Given the description of an element on the screen output the (x, y) to click on. 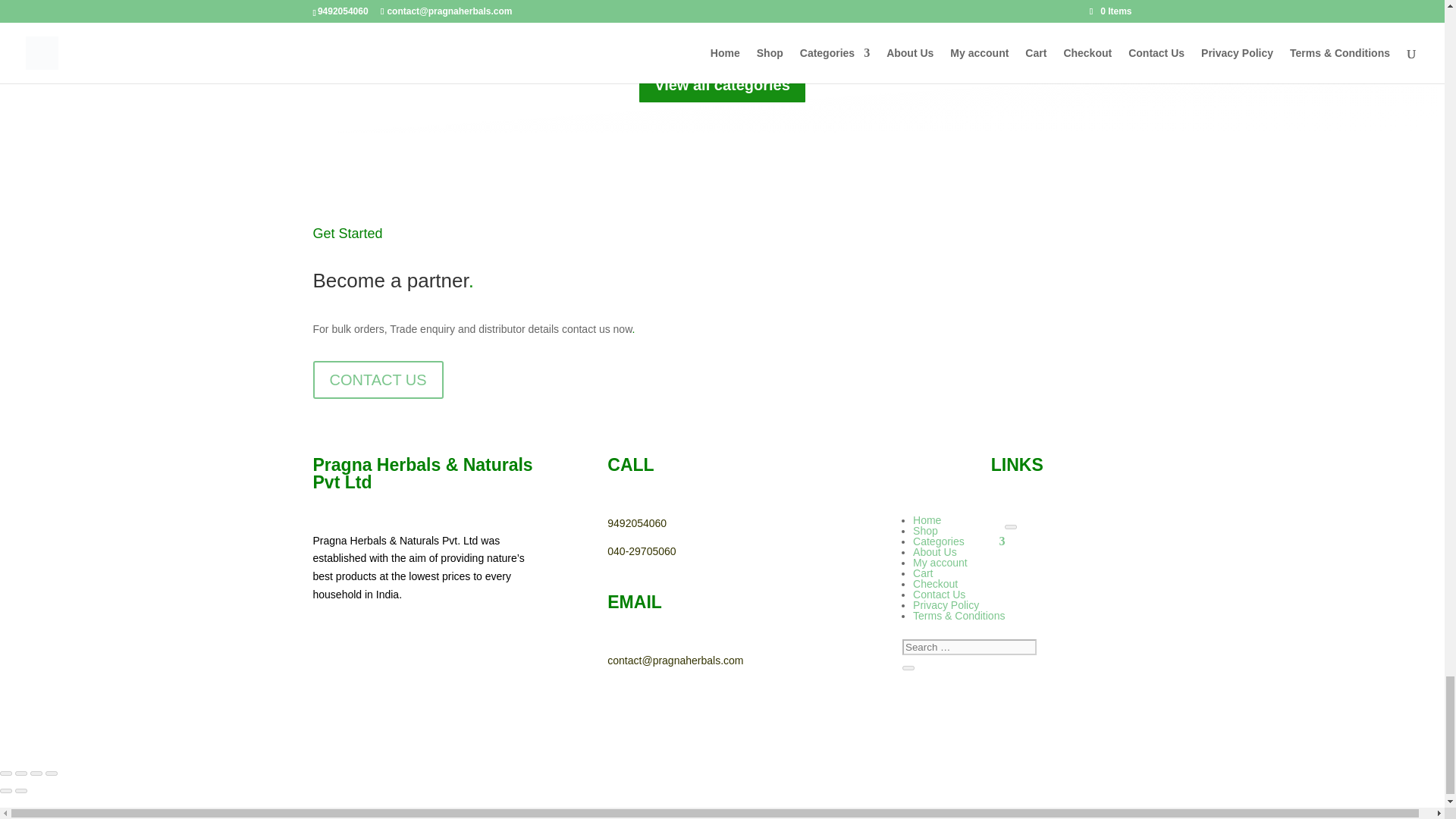
Search for: (969, 647)
